Given the description of an element on the screen output the (x, y) to click on. 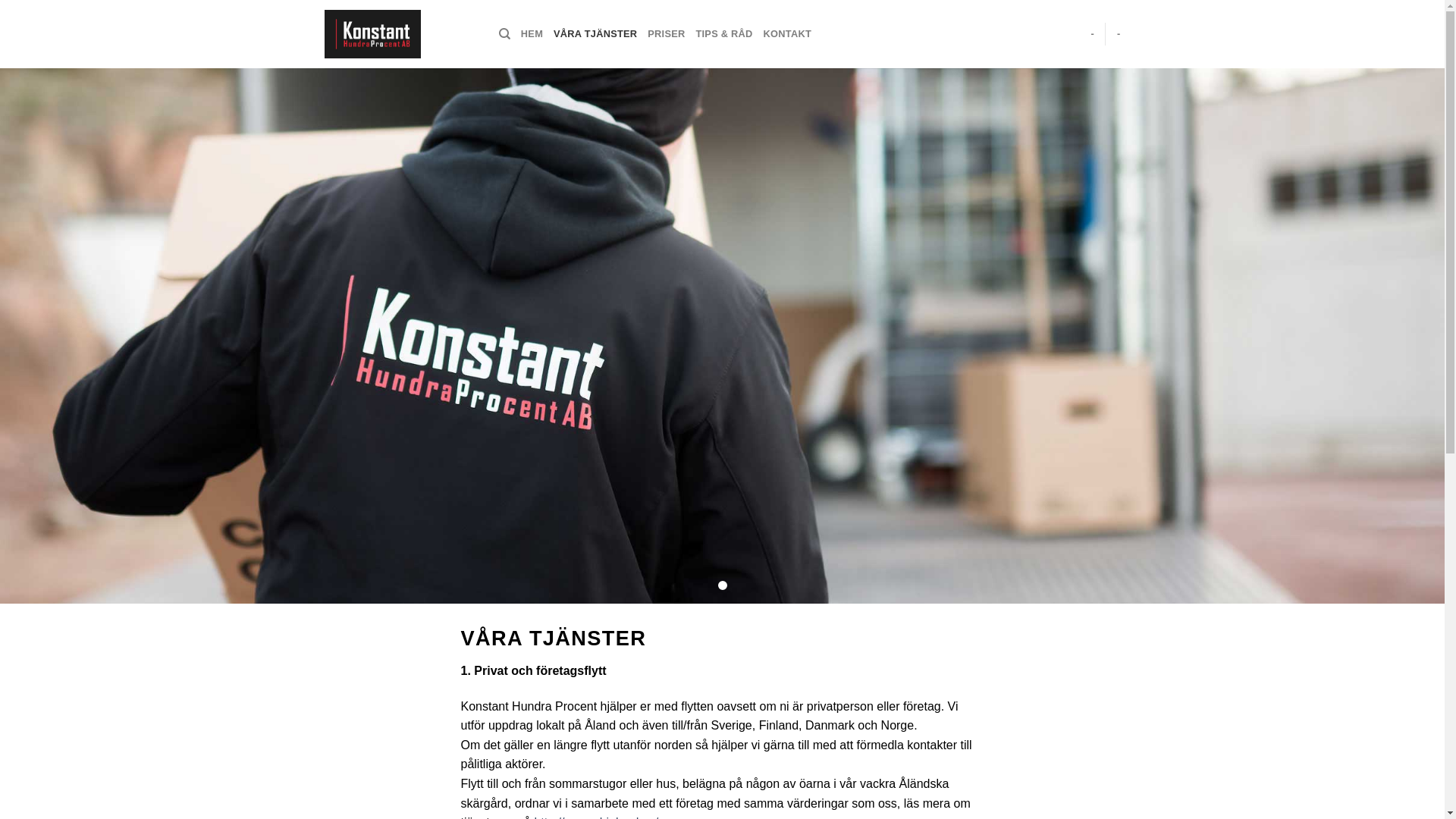
www.hundraprocent.ax - Konstant hundra procent Element type: hover (400, 34)
PRISER Element type: text (665, 33)
KONTAKT Element type: text (787, 33)
HEM Element type: text (531, 33)
- Element type: text (1118, 33)
- Element type: text (1092, 33)
